Given the description of an element on the screen output the (x, y) to click on. 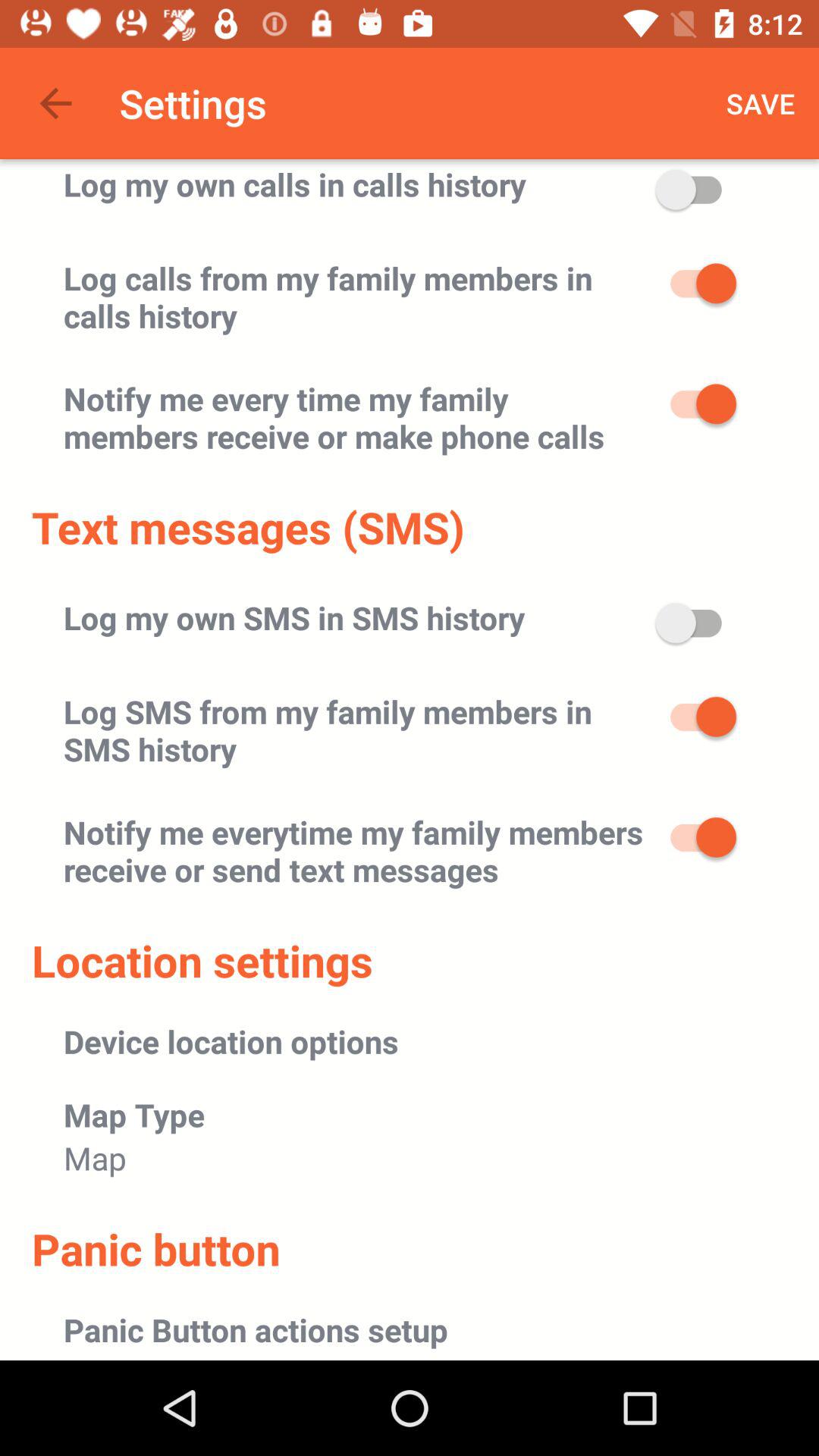
click item below the notify me everytime item (202, 960)
